Given the description of an element on the screen output the (x, y) to click on. 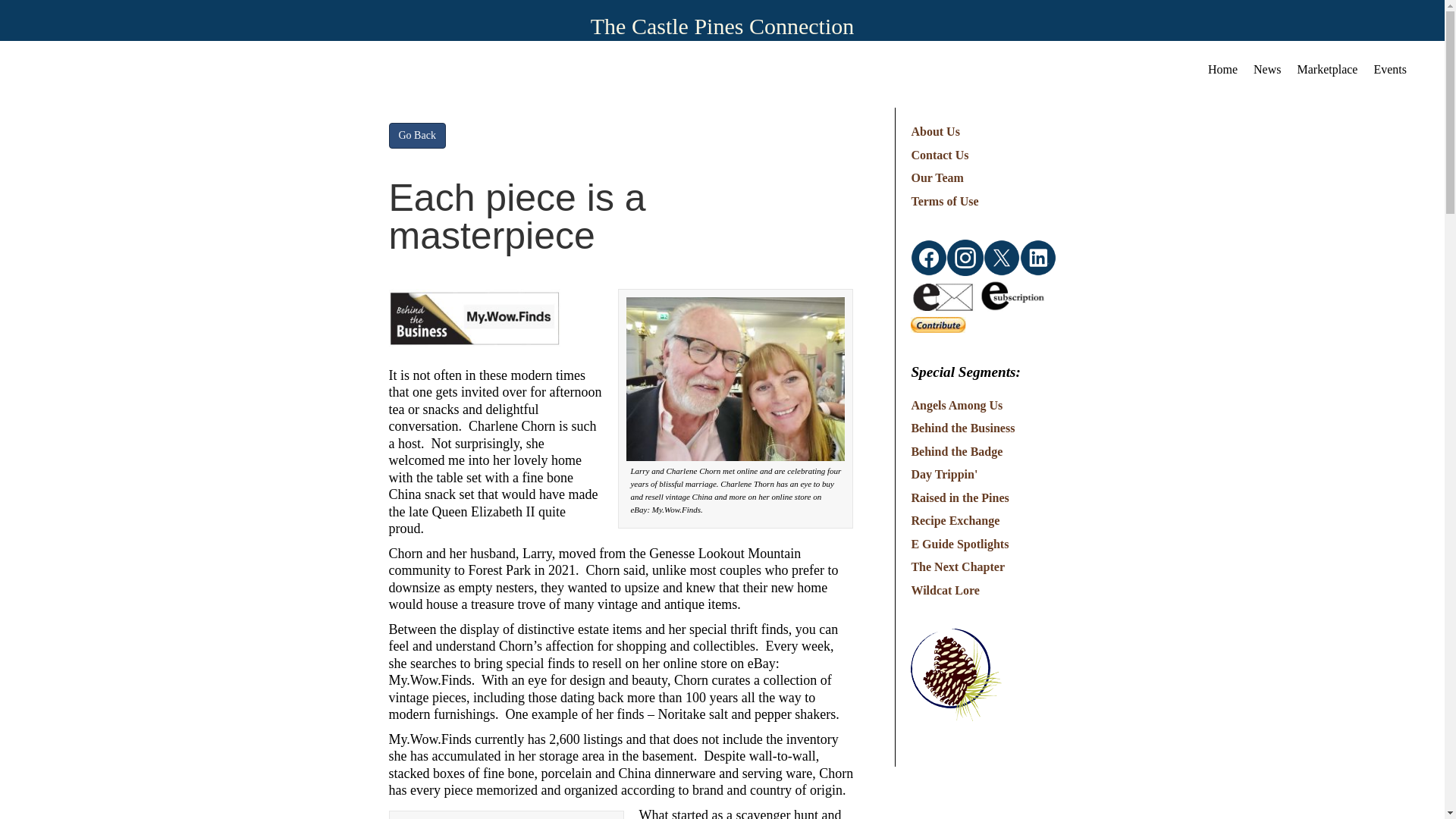
The Castle Pines Connection (722, 25)
Marketplace (1326, 66)
The Castle Pines Connection (722, 25)
News (1267, 66)
Events (1389, 66)
Home (1221, 66)
Go Back (416, 135)
